Given the description of an element on the screen output the (x, y) to click on. 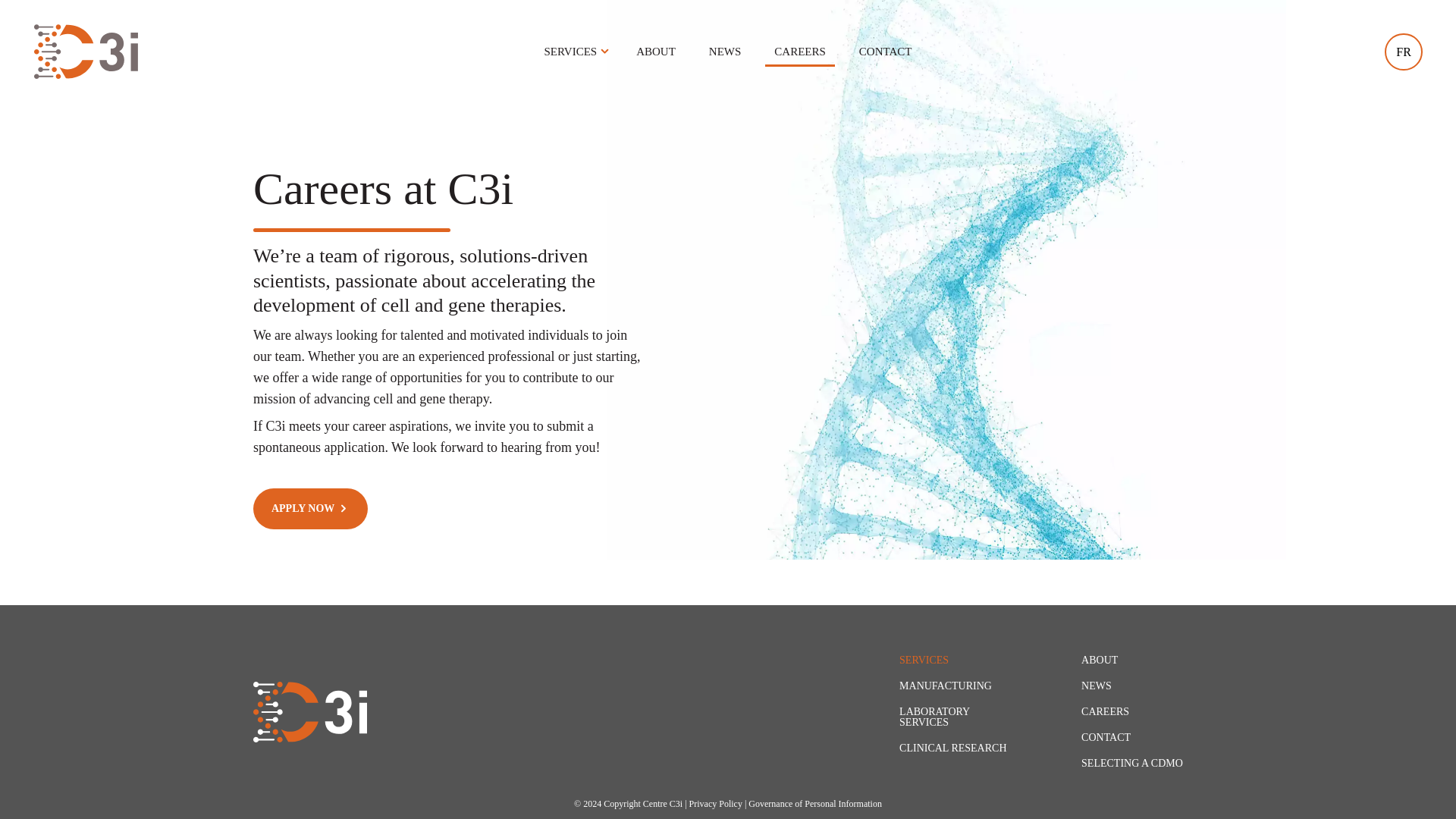
Privacy Policy (715, 803)
NEWS (725, 51)
APPLY NOW (310, 508)
CAREERS (1105, 711)
FR (1403, 52)
NEWS (1096, 685)
CLINICAL RESEARCH (952, 747)
ABOUT (1099, 659)
LABORATORY SERVICES (934, 716)
CentreC3i (85, 51)
